Given the description of an element on the screen output the (x, y) to click on. 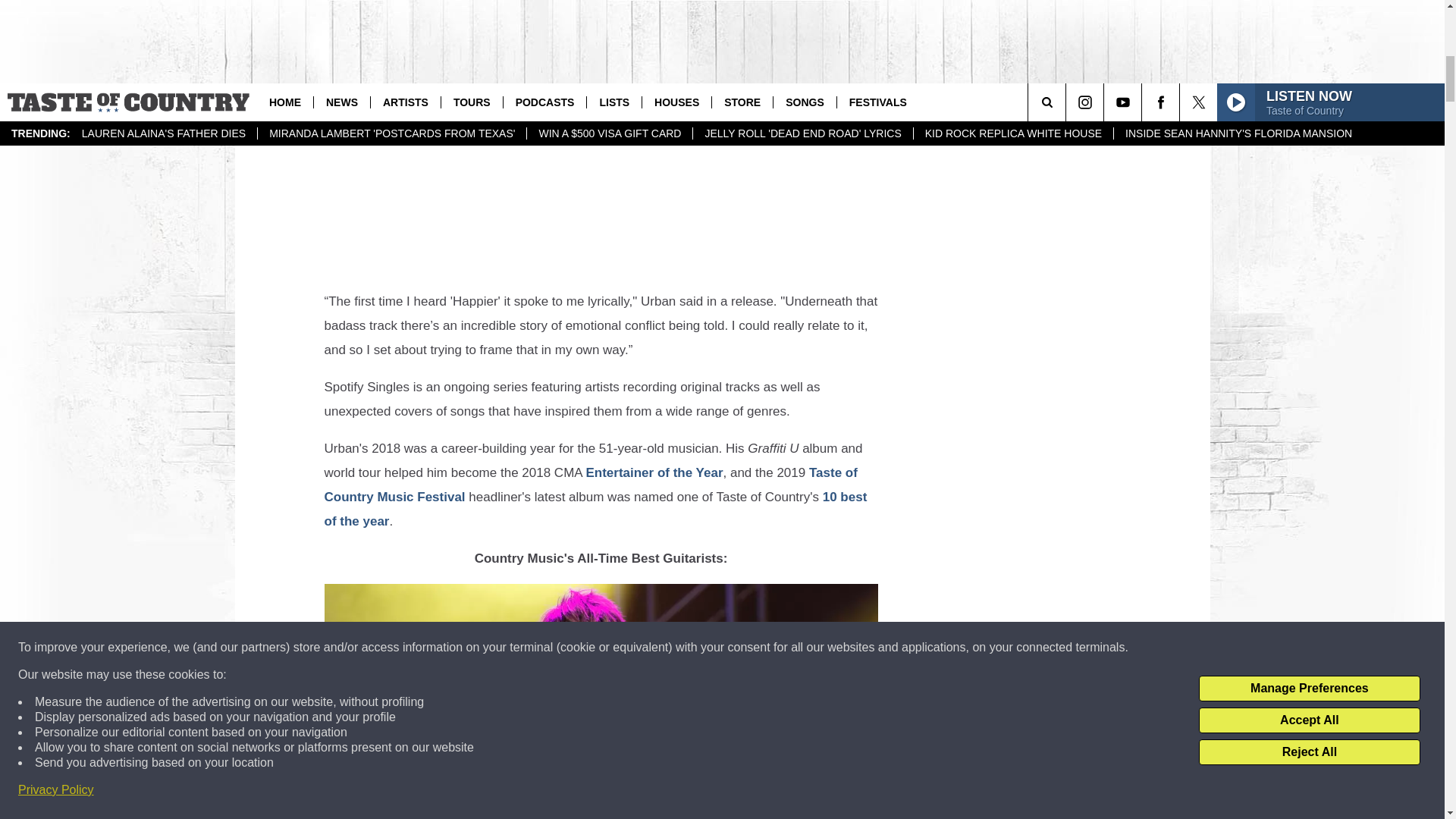
Entertainer of the Year (653, 472)
Taste of Country Music Festival (590, 485)
10 best of the year (595, 508)
